Given the description of an element on the screen output the (x, y) to click on. 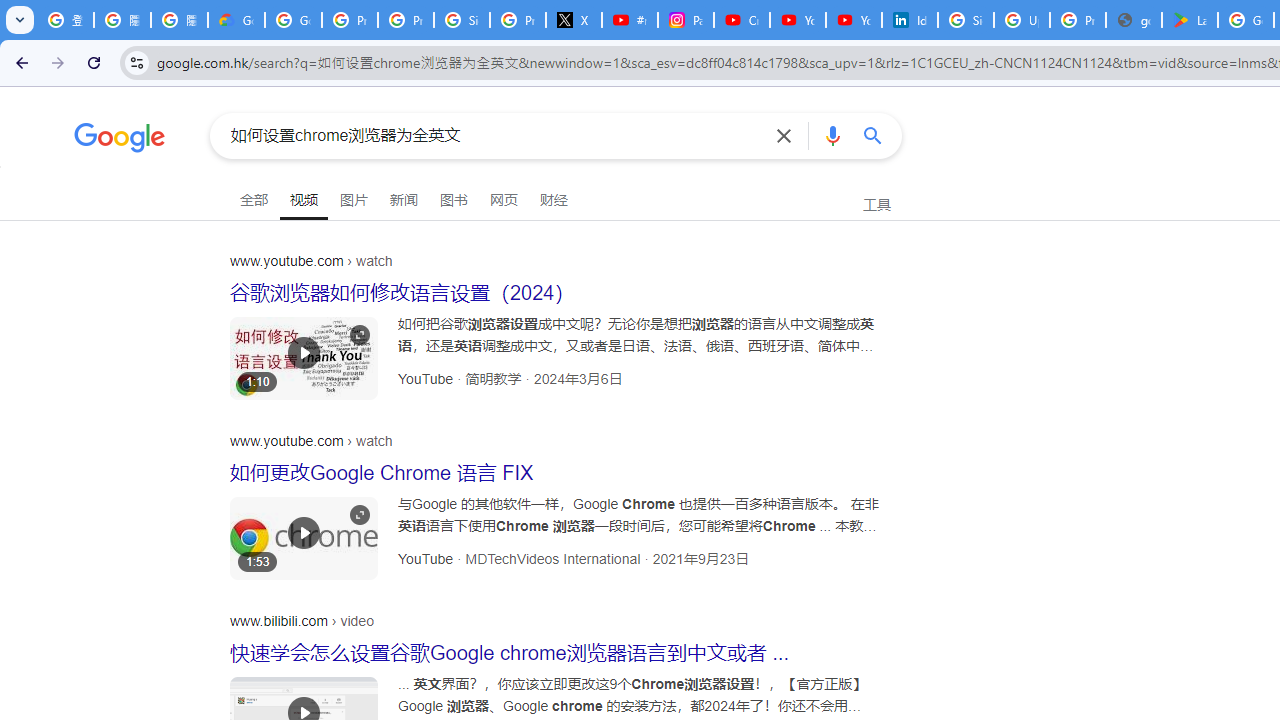
Sign in - Google Accounts (461, 20)
google_privacy_policy_en.pdf (1133, 20)
